Given the description of an element on the screen output the (x, y) to click on. 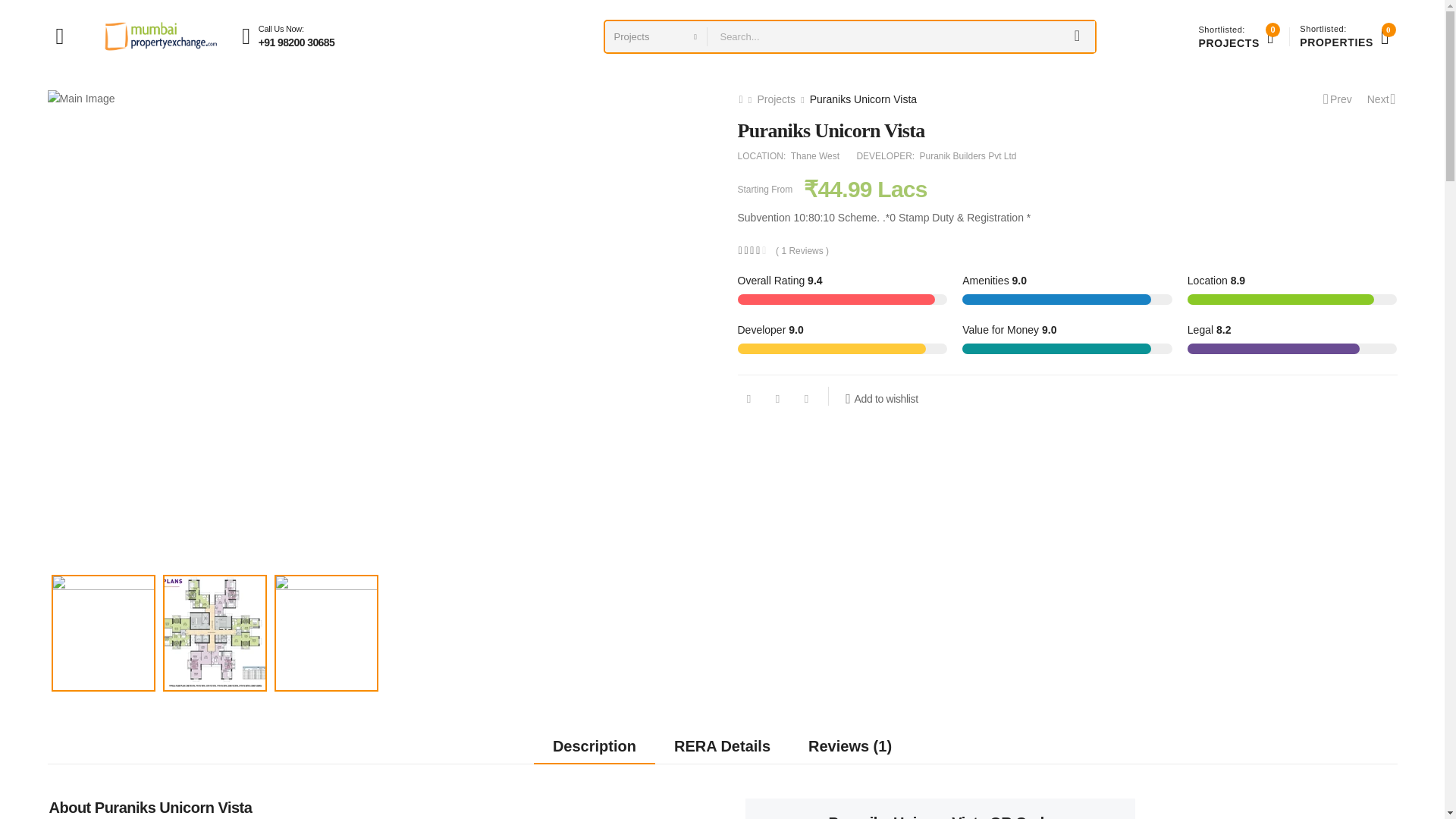
Prev (1337, 98)
Add to wishlist (881, 398)
Next (1381, 98)
submit-button (1076, 36)
Projects (775, 99)
RERA Details (1344, 36)
Description (722, 746)
